Given the description of an element on the screen output the (x, y) to click on. 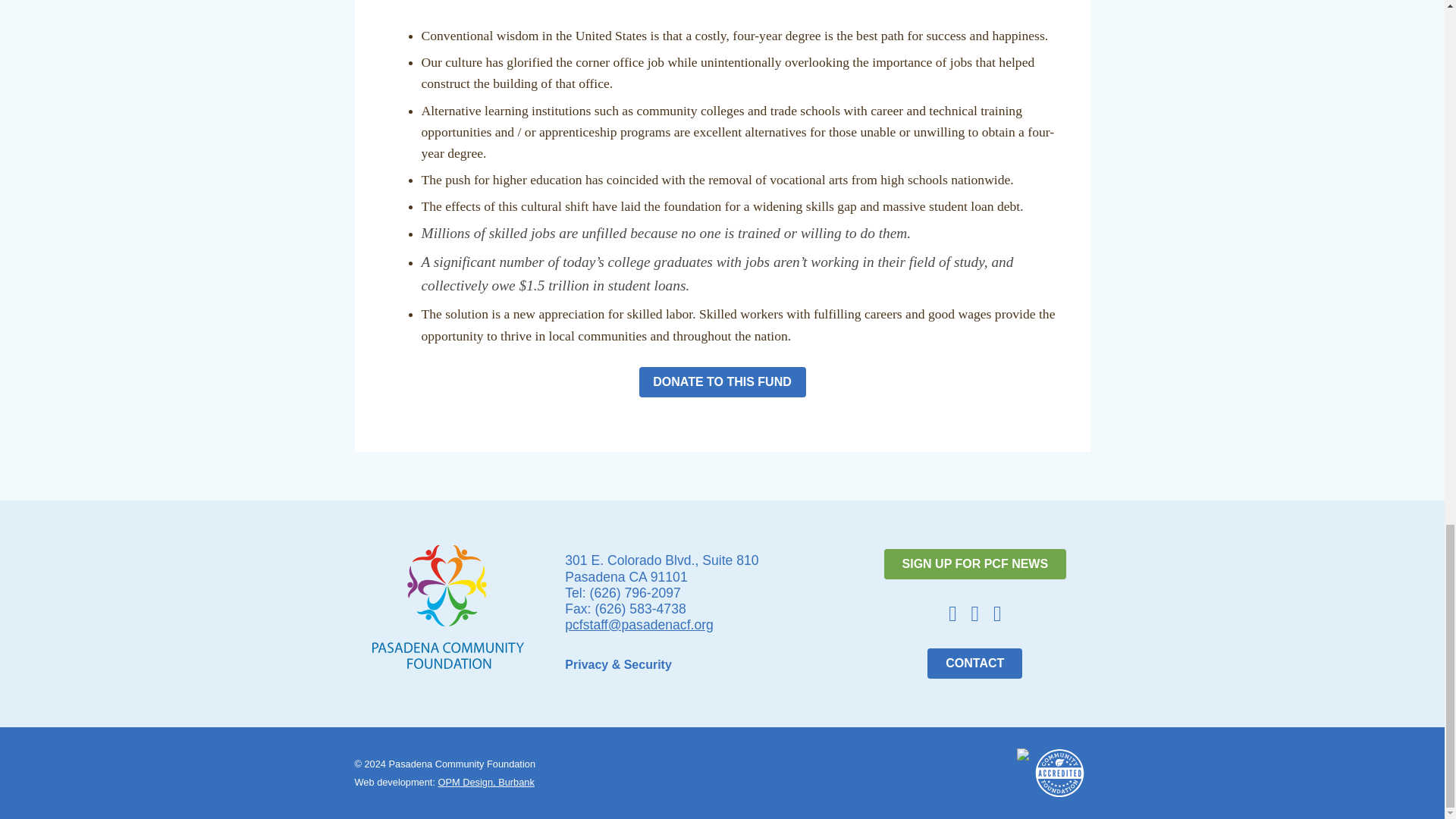
DONATE TO THIS FUND (722, 381)
SIGN UP FOR PCF NEWS (975, 563)
OPM Design, Burbank (486, 781)
CONTACT (974, 663)
Donate To This Fund (722, 381)
